Given the description of an element on the screen output the (x, y) to click on. 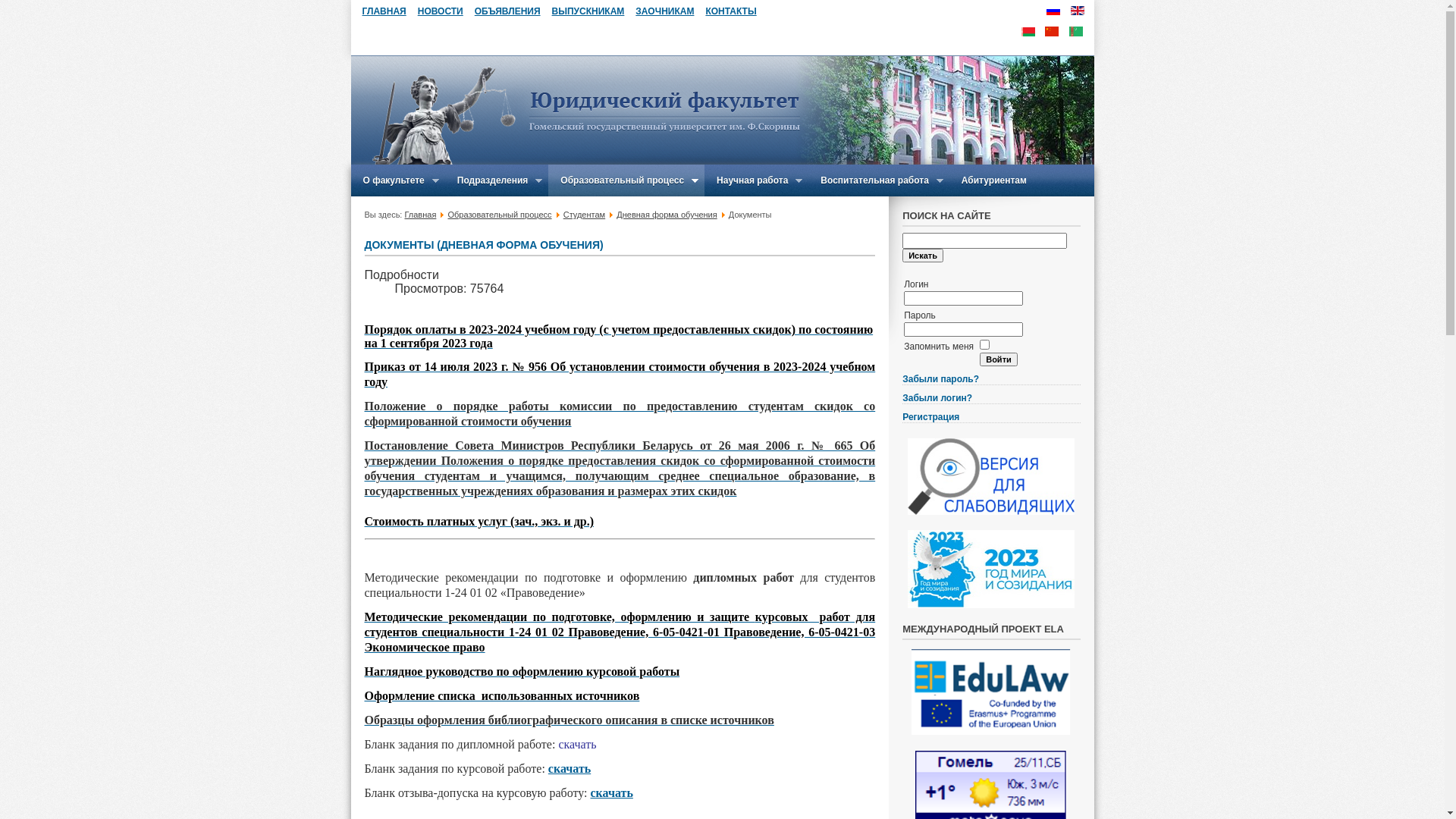
English (UK) Element type: hover (1077, 10)
TN Element type: hover (1075, 31)
CN Element type: hover (1051, 31)
